Given the description of an element on the screen output the (x, y) to click on. 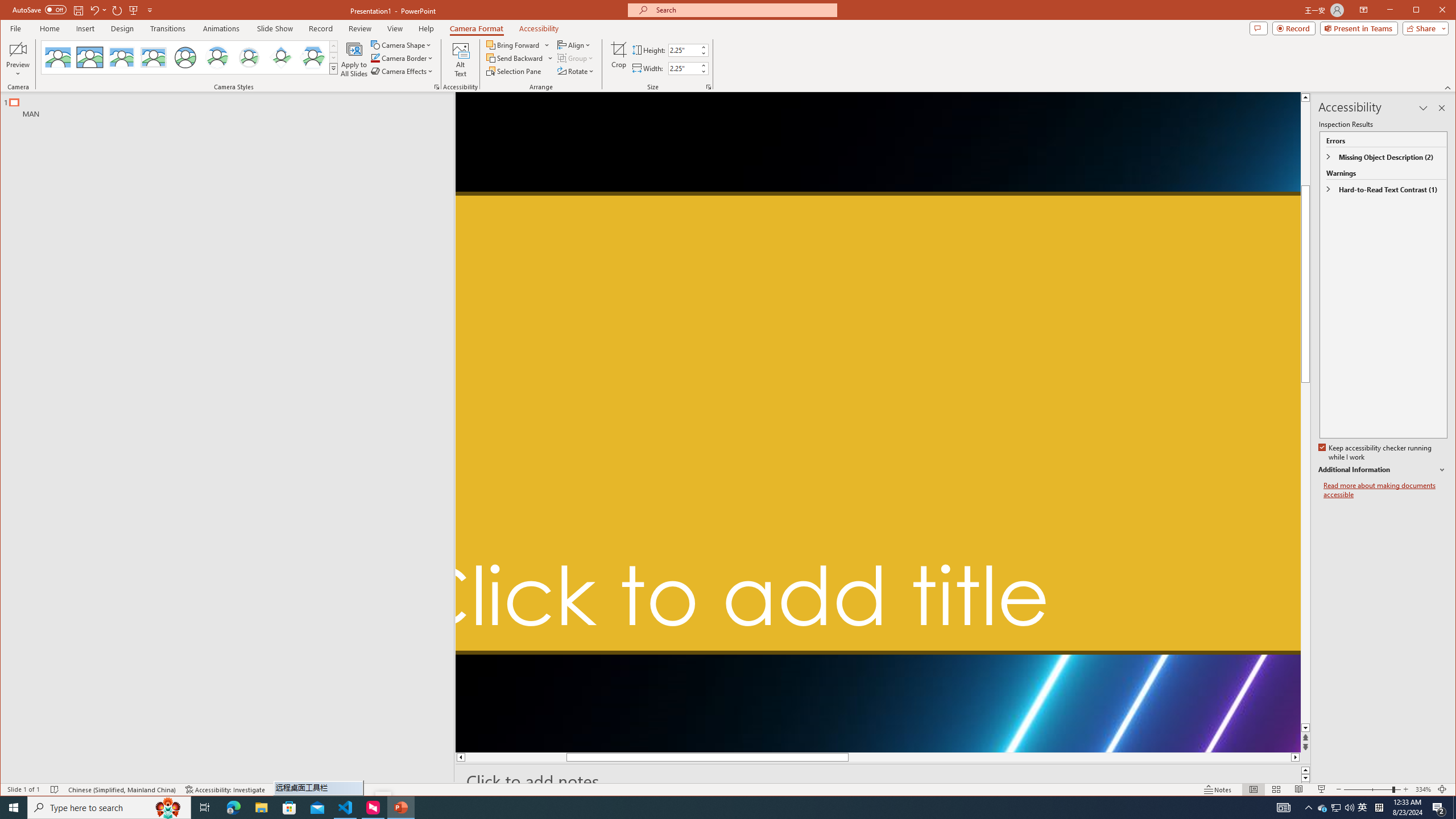
Apply to All Slides (354, 59)
Simple Frame Circle (184, 57)
Soft Edge Circle (248, 57)
